Given the description of an element on the screen output the (x, y) to click on. 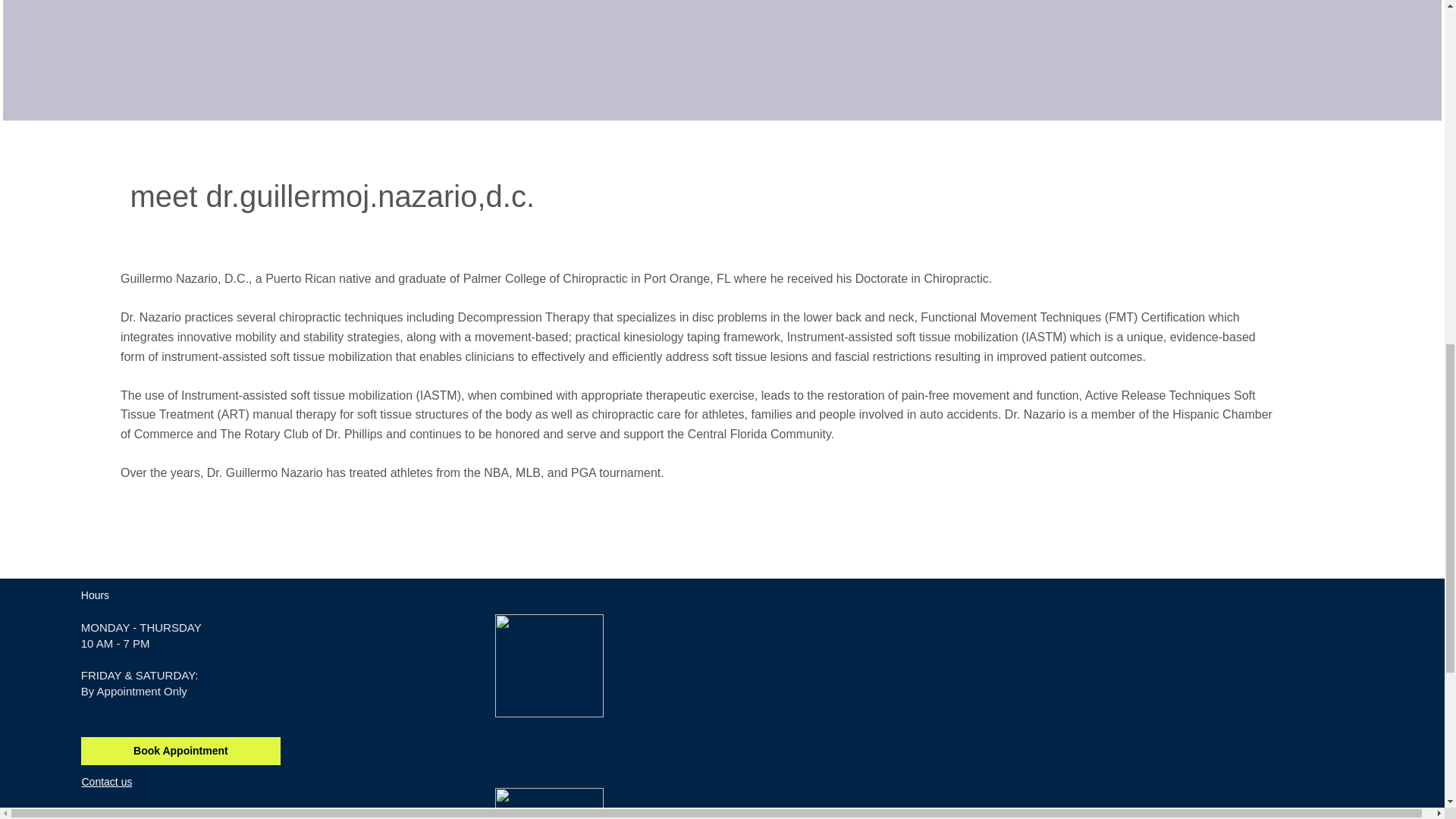
Book Appointment (181, 750)
Contact us (106, 781)
Book Appointment (703, 610)
